Given the description of an element on the screen output the (x, y) to click on. 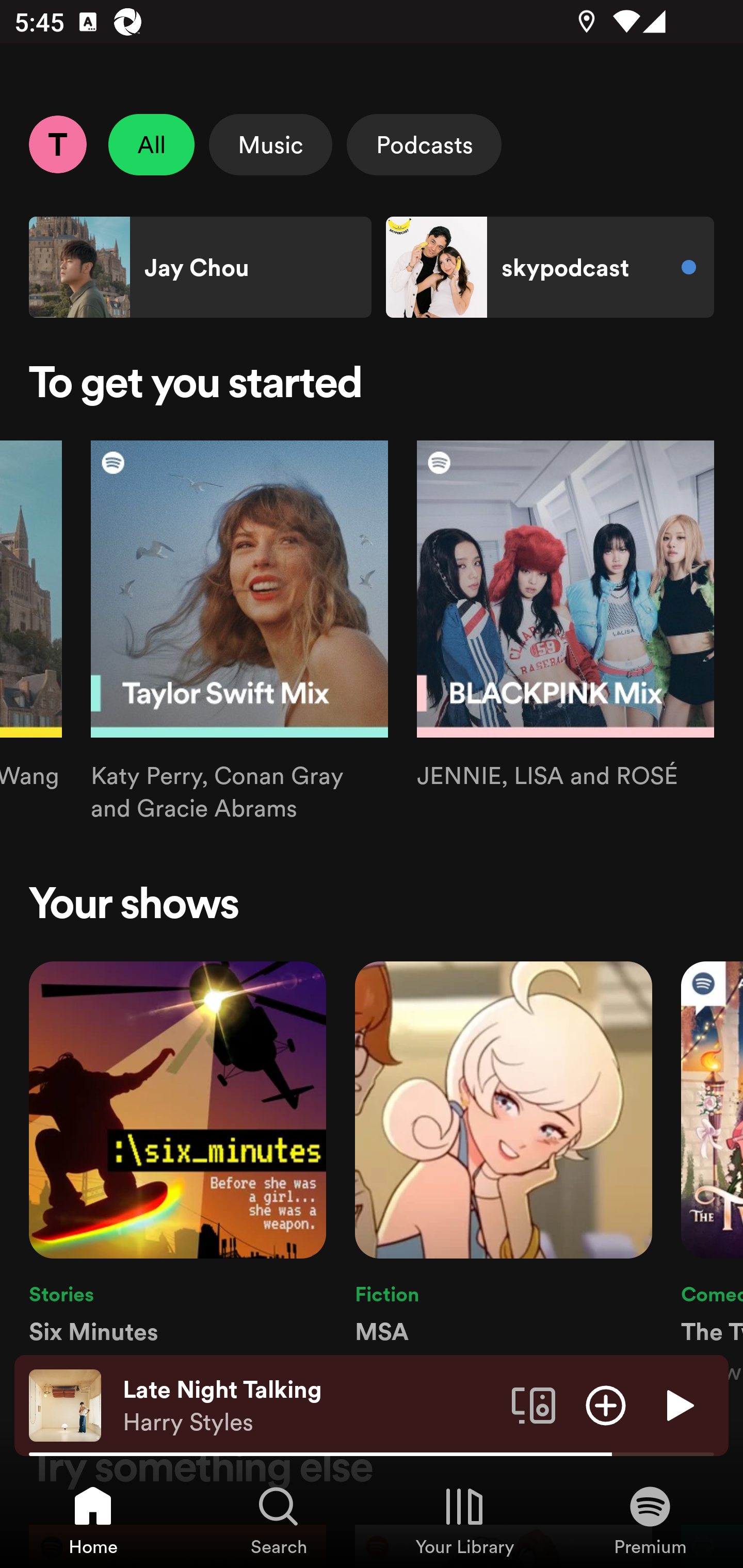
Profile (57, 144)
All Unselect All (151, 144)
Music Select Music (270, 144)
Podcasts Select Podcasts (423, 144)
Jay Chou Shortcut Jay Chou (199, 267)
skypodcast Shortcut skypodcast New content (549, 267)
Stories Six Minutes Show • GZM Shows (177, 1174)
Fiction MSA  Show • My Story Animated (503, 1174)
Late Night Talking Harry Styles (309, 1405)
The cover art of the currently playing track (64, 1404)
Connect to a device. Opens the devices menu (533, 1404)
Add item (605, 1404)
Play (677, 1404)
Home, Tab 1 of 4 Home Home (92, 1519)
Search, Tab 2 of 4 Search Search (278, 1519)
Your Library, Tab 3 of 4 Your Library Your Library (464, 1519)
Premium, Tab 4 of 4 Premium Premium (650, 1519)
